Given the description of an element on the screen output the (x, y) to click on. 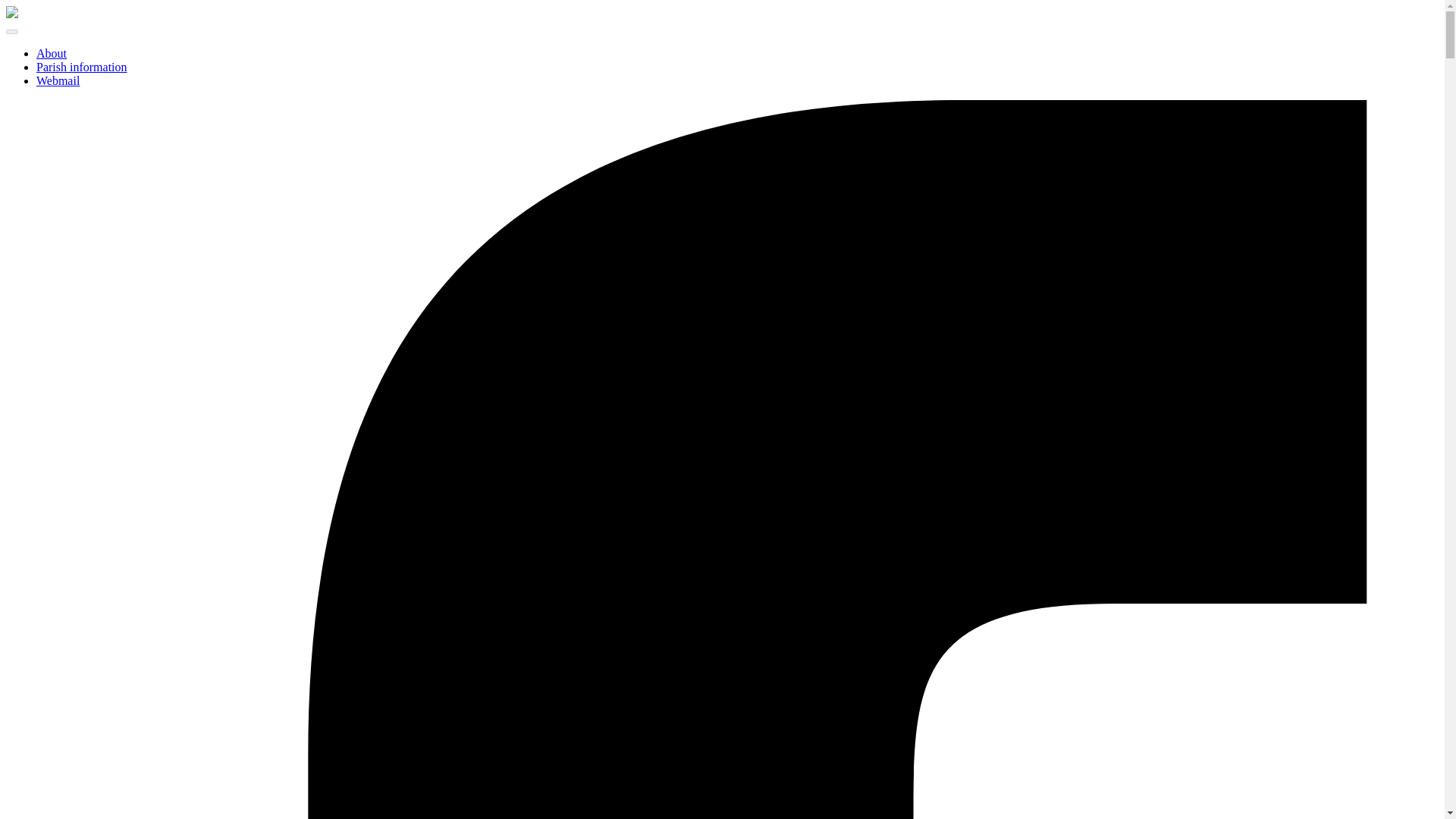
About (51, 52)
Parish information (82, 66)
Webmail (58, 80)
